Given the description of an element on the screen output the (x, y) to click on. 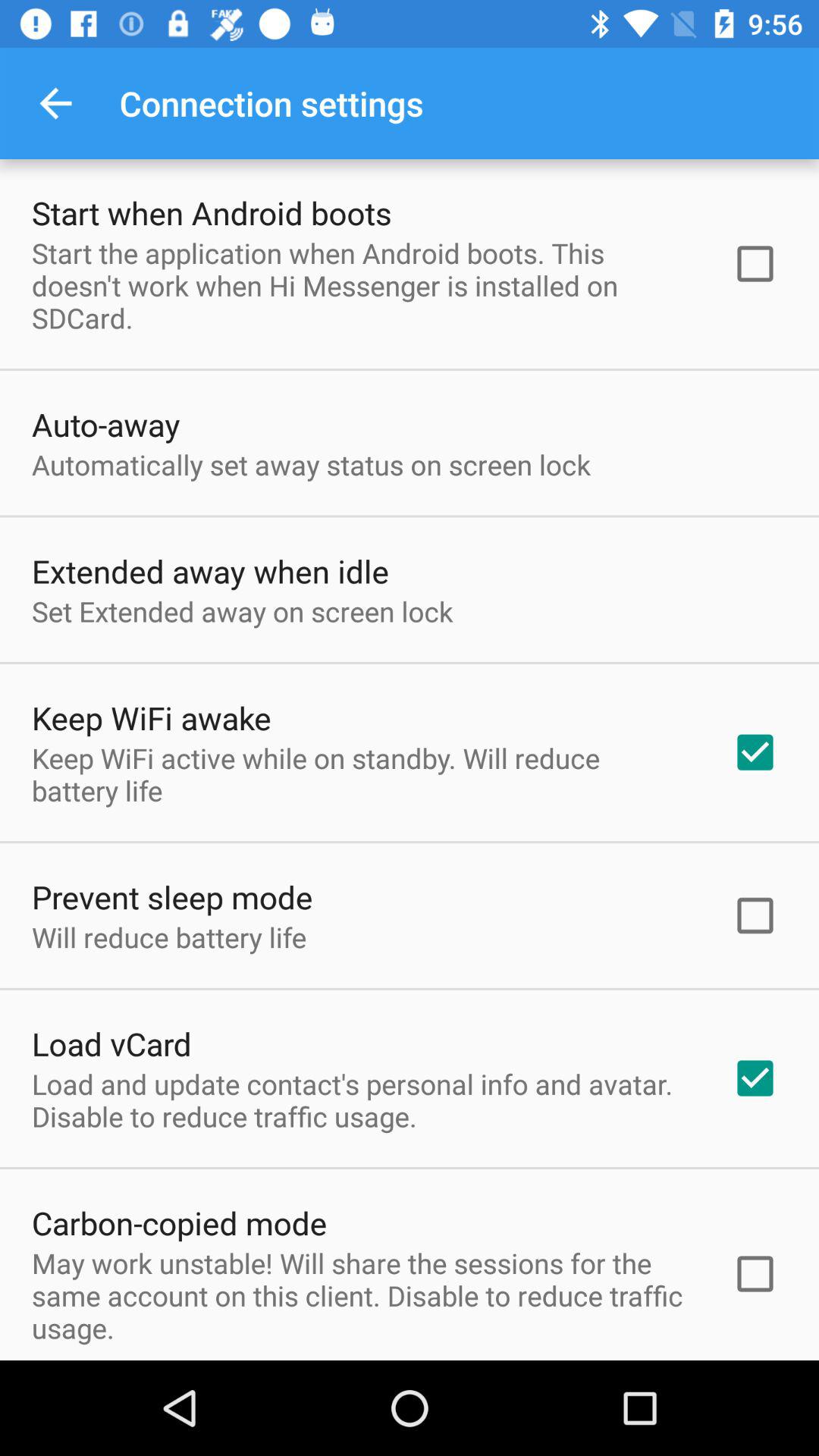
tap item above start when android item (55, 103)
